Given the description of an element on the screen output the (x, y) to click on. 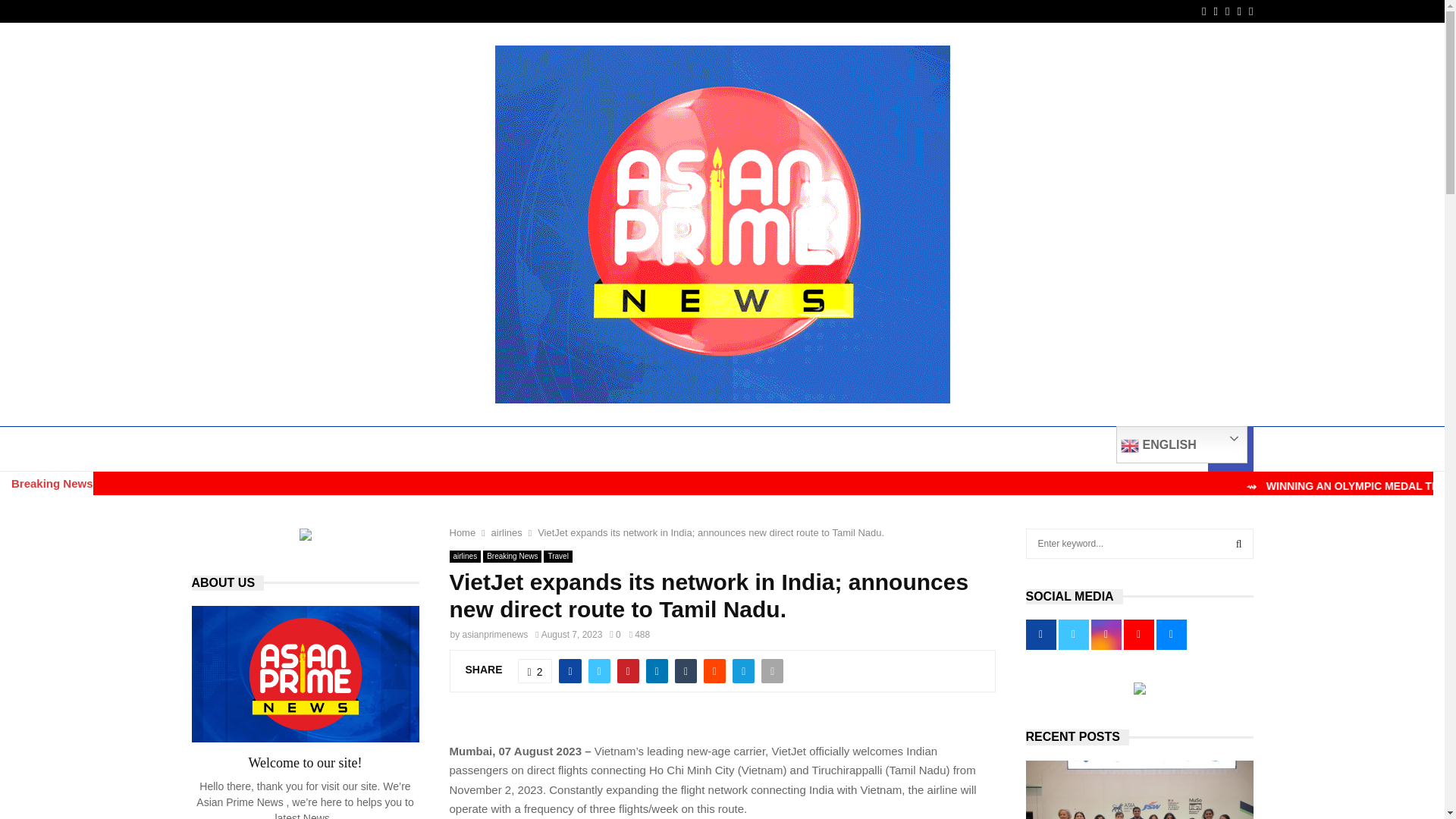
REAL ESTATE (1002, 448)
EDUCATION (368, 448)
SPORTS (733, 448)
LIFESTYLE (807, 448)
NEW PRODUCTS (901, 448)
FINANCE (445, 448)
BUSINESS (287, 448)
MORE (1082, 448)
HOME (218, 448)
Like (535, 670)
ENTERTAINMENT (536, 448)
ENGLISH (1181, 444)
